Given the description of an element on the screen output the (x, y) to click on. 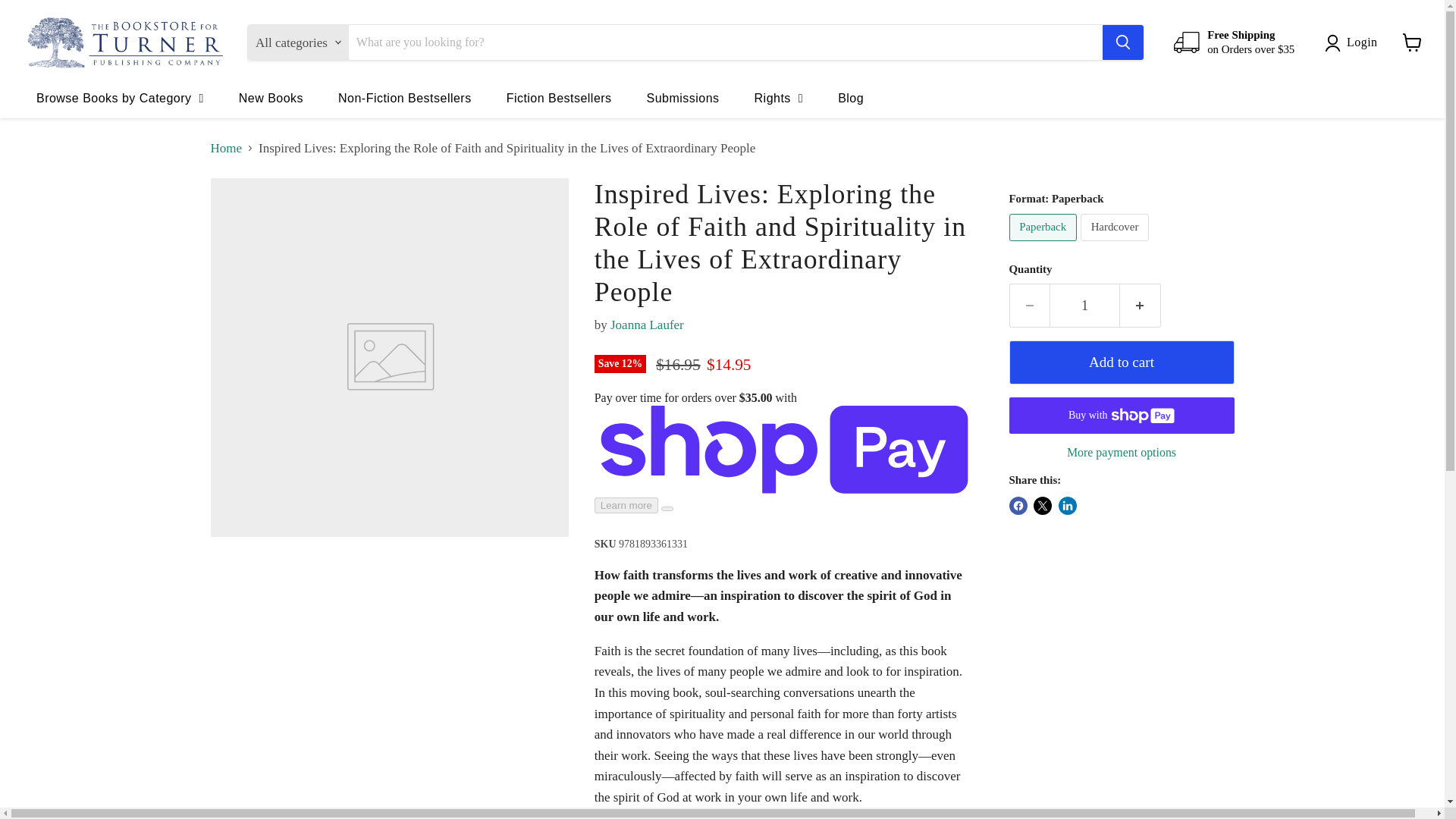
View cart (1411, 41)
1 (1084, 305)
Browse Books by Category (119, 97)
Login (1354, 42)
Browse Books by Category (119, 97)
